Given the description of an element on the screen output the (x, y) to click on. 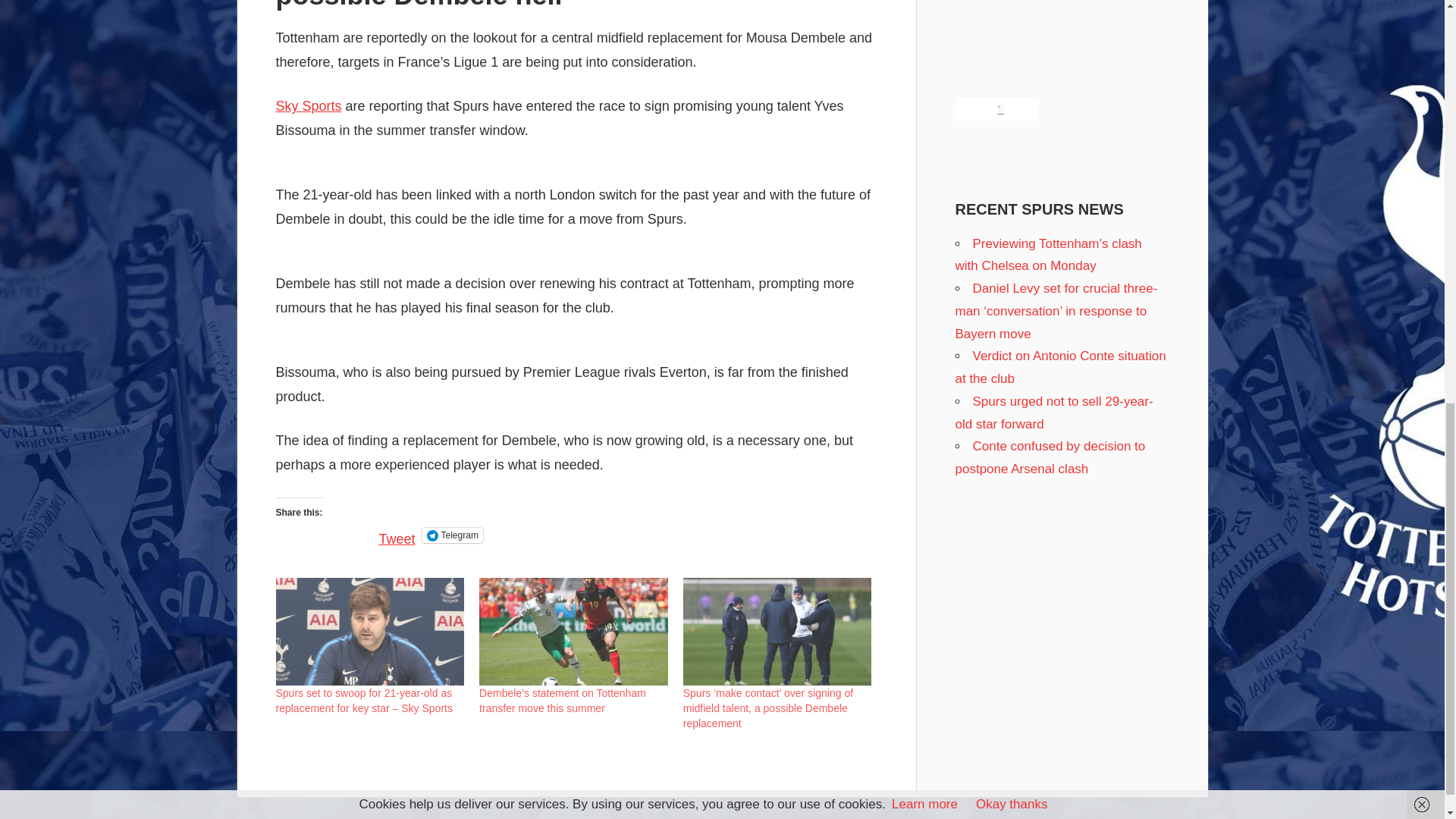
Verdict on Antonio Conte situation at the club (1060, 366)
Tweet (396, 534)
Sky Sports (309, 105)
1 (997, 108)
Conte confused by decision to postpone Arsenal clash (1050, 456)
READ  (300, 771)
Click to share on Telegram (452, 534)
Spurs urged not to sell 29-year-old star forward (1054, 412)
Telegram (452, 534)
